Given the description of an element on the screen output the (x, y) to click on. 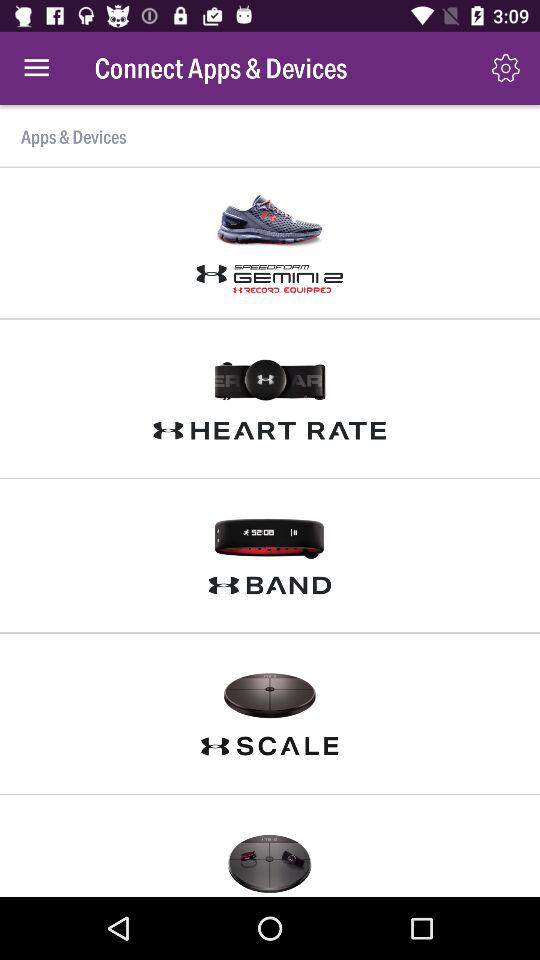
turn on the item at the top right corner (505, 67)
